Given the description of an element on the screen output the (x, y) to click on. 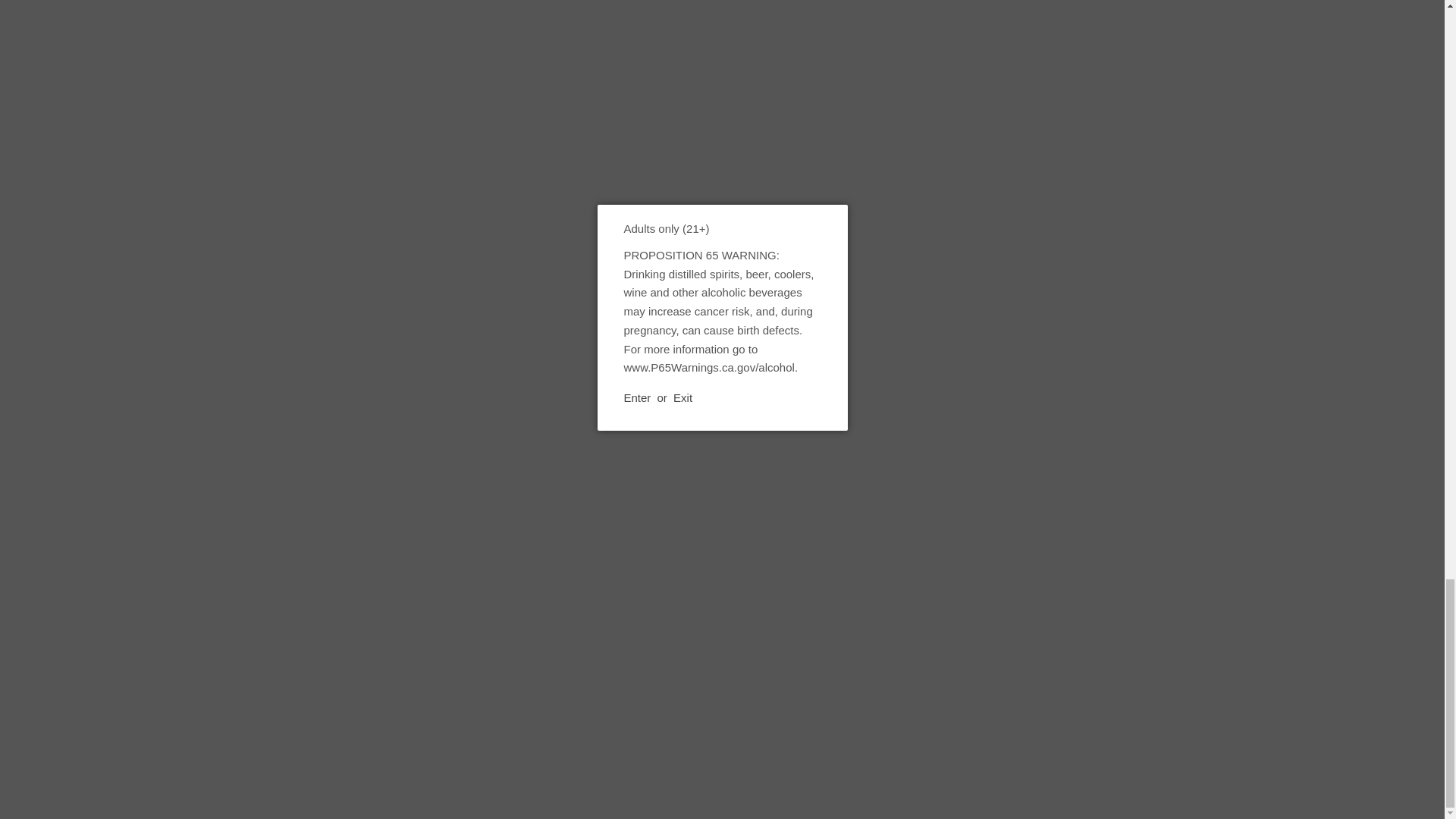
Mastercard (1205, 744)
Discover (1082, 744)
Google Pay (1164, 744)
Apple Pay (1000, 744)
Shop Pay (1286, 744)
American Express (959, 744)
PayPal (1245, 744)
Venmo (1328, 744)
Visa (1369, 744)
Diners Club (1042, 744)
